Given the description of an element on the screen output the (x, y) to click on. 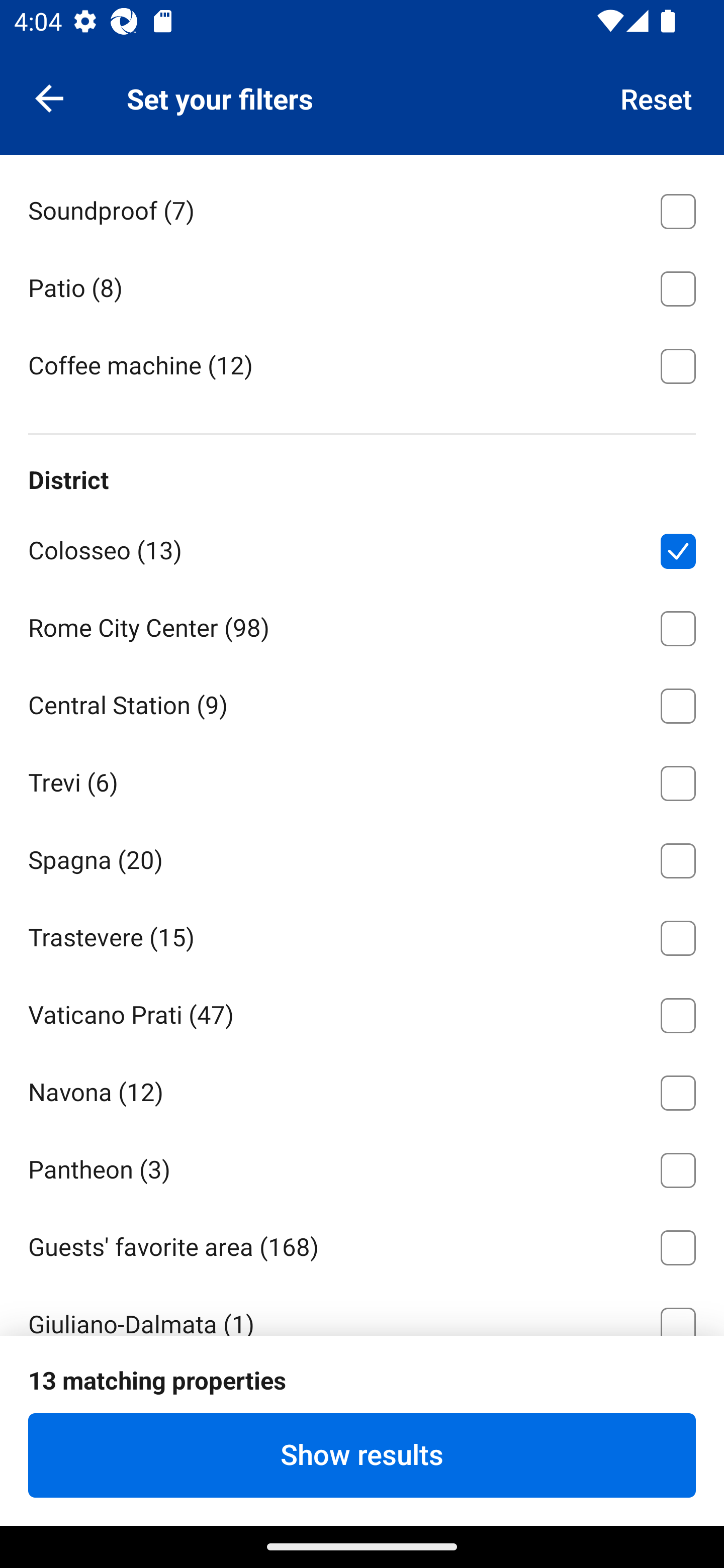
Navigate up (49, 97)
Reset (656, 97)
Soundproof ⁦(7) (361, 207)
Patio ⁦(8) (361, 285)
Coffee machine ⁦(12) (361, 364)
Colosseo ⁦(13) (361, 547)
Rome City Center ⁦(98) (361, 624)
Central Station ⁦(9) (361, 702)
Trevi ⁦(6) (361, 779)
Spagna ⁦(20) (361, 856)
Trastevere ⁦(15) (361, 934)
Vaticano Prati ⁦(47) (361, 1011)
Navona ⁦(12) (361, 1089)
Pantheon ⁦(3) (361, 1166)
Guests' favorite area ⁦(168) (361, 1243)
Giuliano-Dalmata ⁦(1) (361, 1308)
Eur ⁦(2) (361, 1399)
Show results (361, 1454)
